Given the description of an element on the screen output the (x, y) to click on. 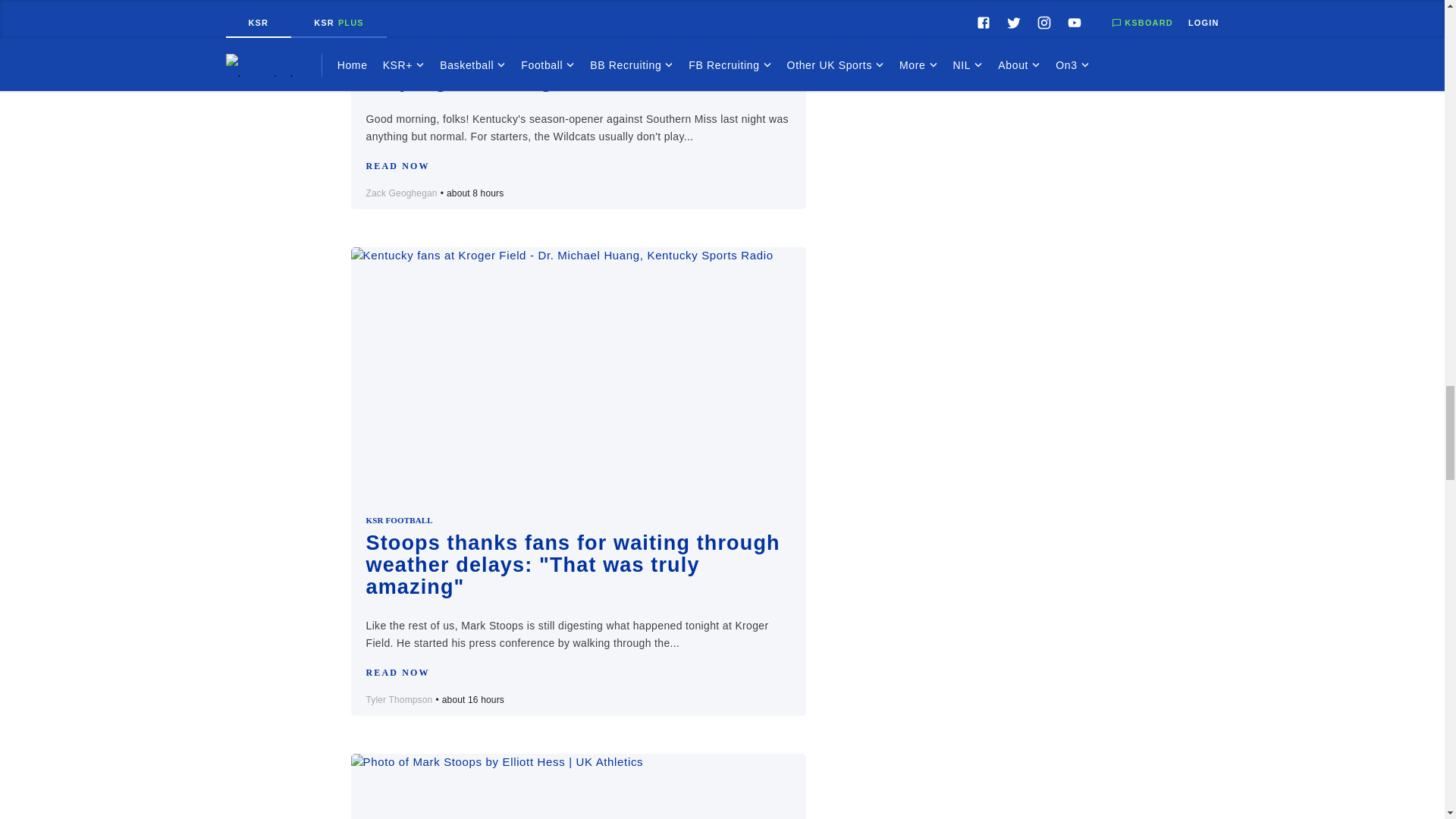
WATCH: Mark Stoops recaps Southern Miss win (577, 786)
